Given the description of an element on the screen output the (x, y) to click on. 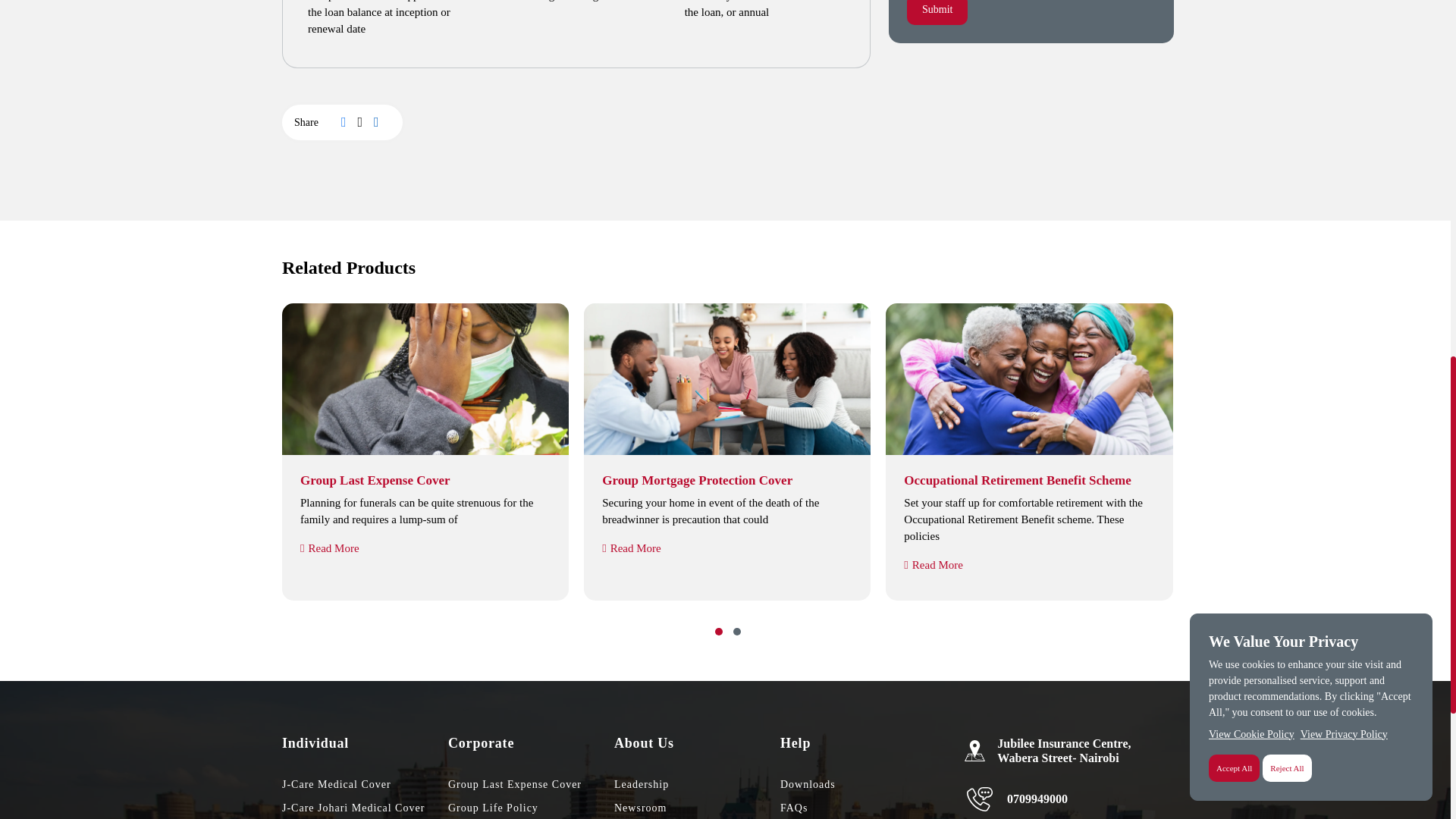
J-Care Johari Medical Cover (365, 807)
Newsroom (697, 807)
FAQs (863, 807)
Leadership (697, 784)
Group Last Expense Cover (531, 784)
Downloads (863, 784)
J-Care Medical Cover (365, 784)
Group Life Policy (531, 807)
